Given the description of an element on the screen output the (x, y) to click on. 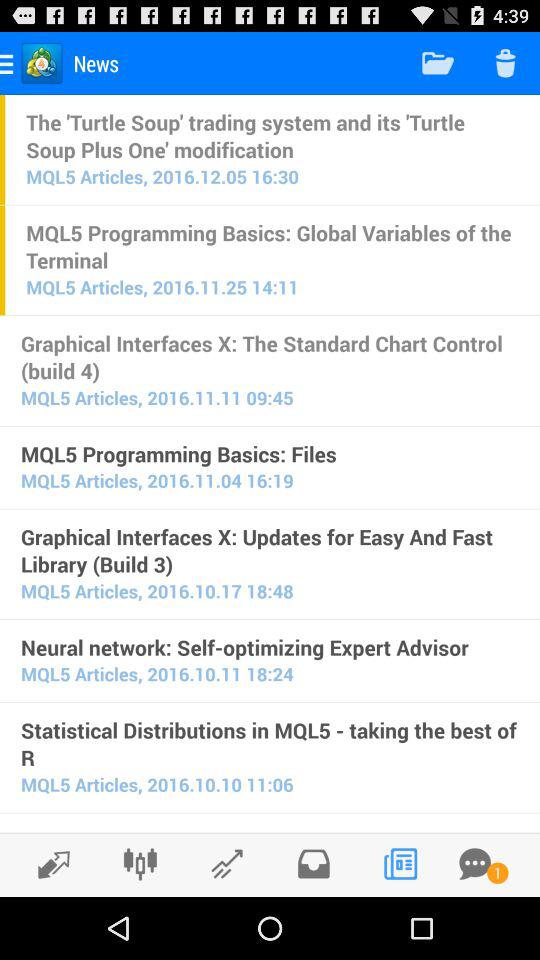
go to archive (313, 863)
